Given the description of an element on the screen output the (x, y) to click on. 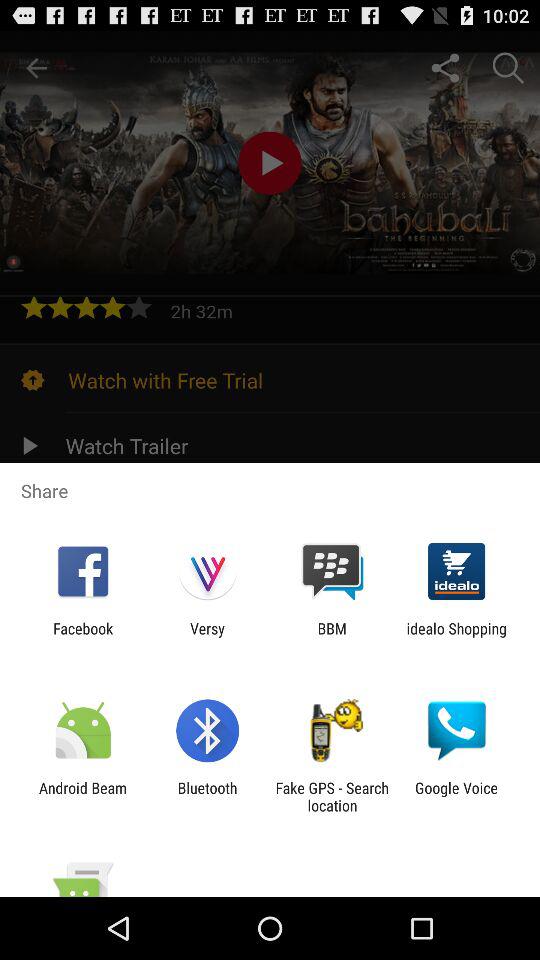
flip until the idealo shopping item (456, 637)
